Given the description of an element on the screen output the (x, y) to click on. 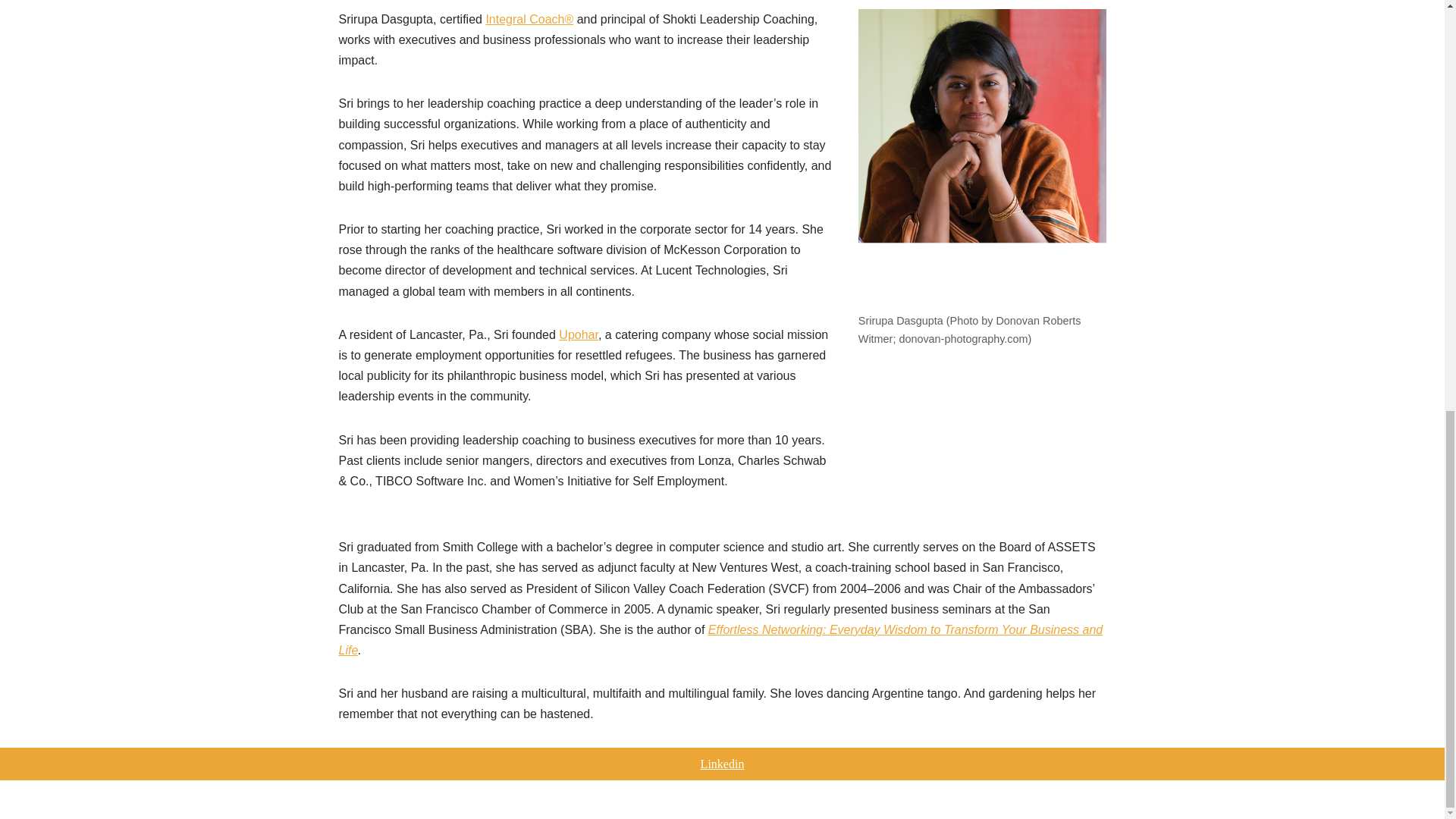
Upohar (578, 334)
Neve (350, 799)
Linkedin (722, 763)
WordPress (458, 799)
